Given the description of an element on the screen output the (x, y) to click on. 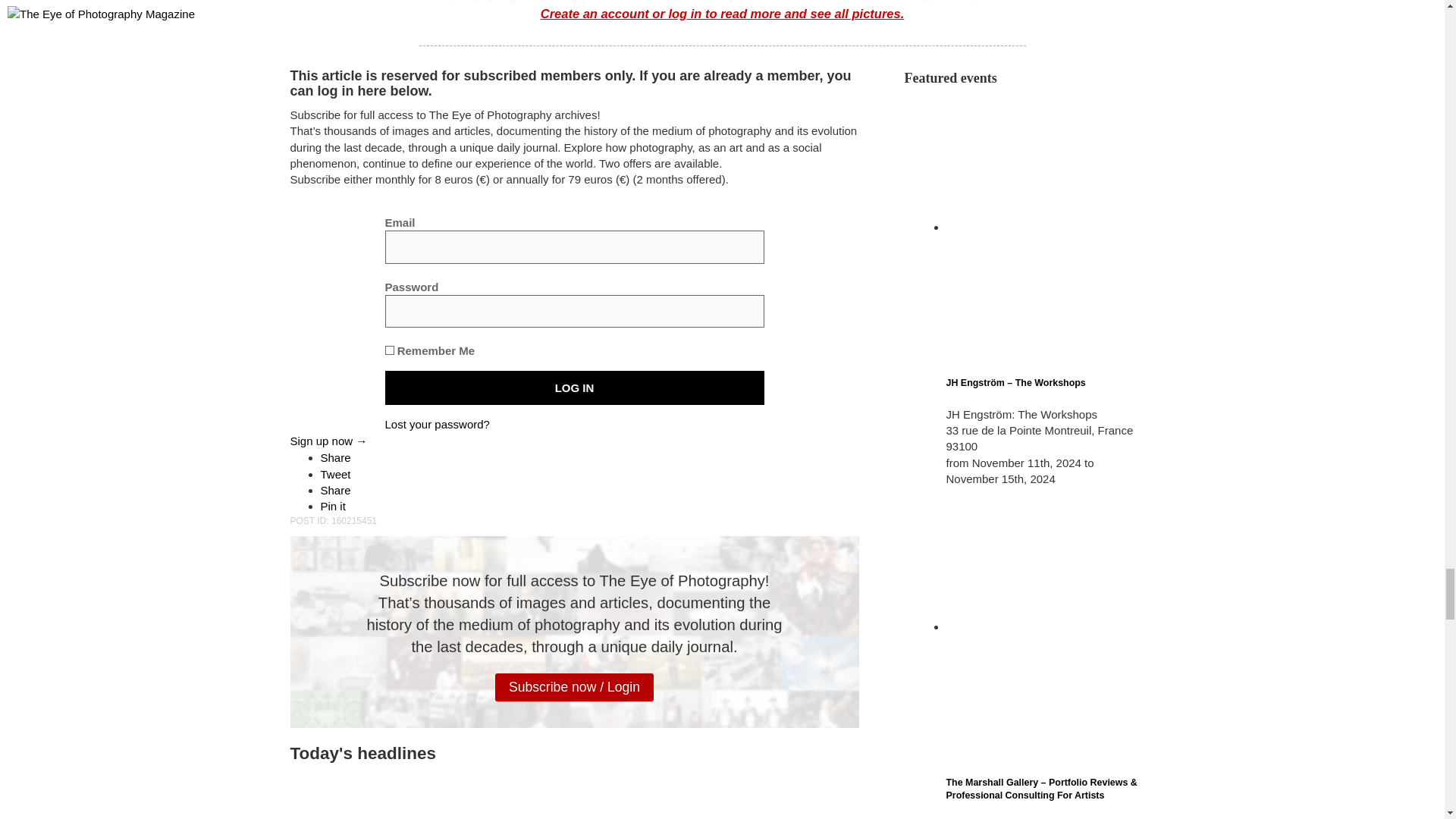
forever (389, 349)
Log In (574, 387)
